Given the description of an element on the screen output the (x, y) to click on. 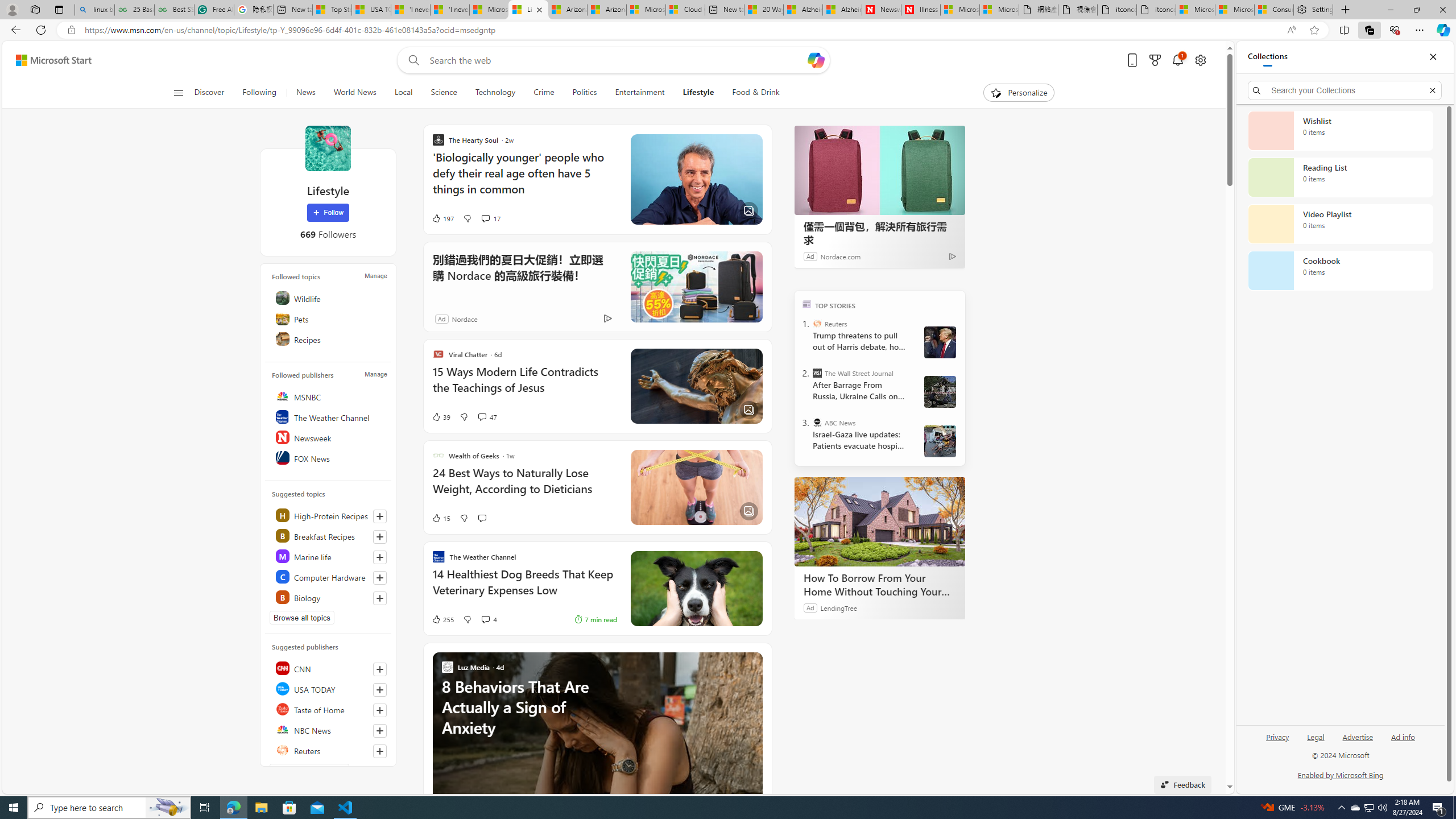
Top Stories - MSN (331, 9)
Pets (328, 318)
Ad info (1402, 736)
USA TODAY (328, 688)
Free AI Writing Assistance for Students | Grammarly (213, 9)
Open navigation menu (177, 92)
Class: highlight (328, 597)
Follow this topic (379, 597)
Manage (375, 374)
Food & Drink (756, 92)
View comments 4 Comment (489, 619)
15 Ways Modern Life Contradicts the Teachings of Jesus (524, 385)
255 Like (442, 619)
View site information (70, 29)
